Given the description of an element on the screen output the (x, y) to click on. 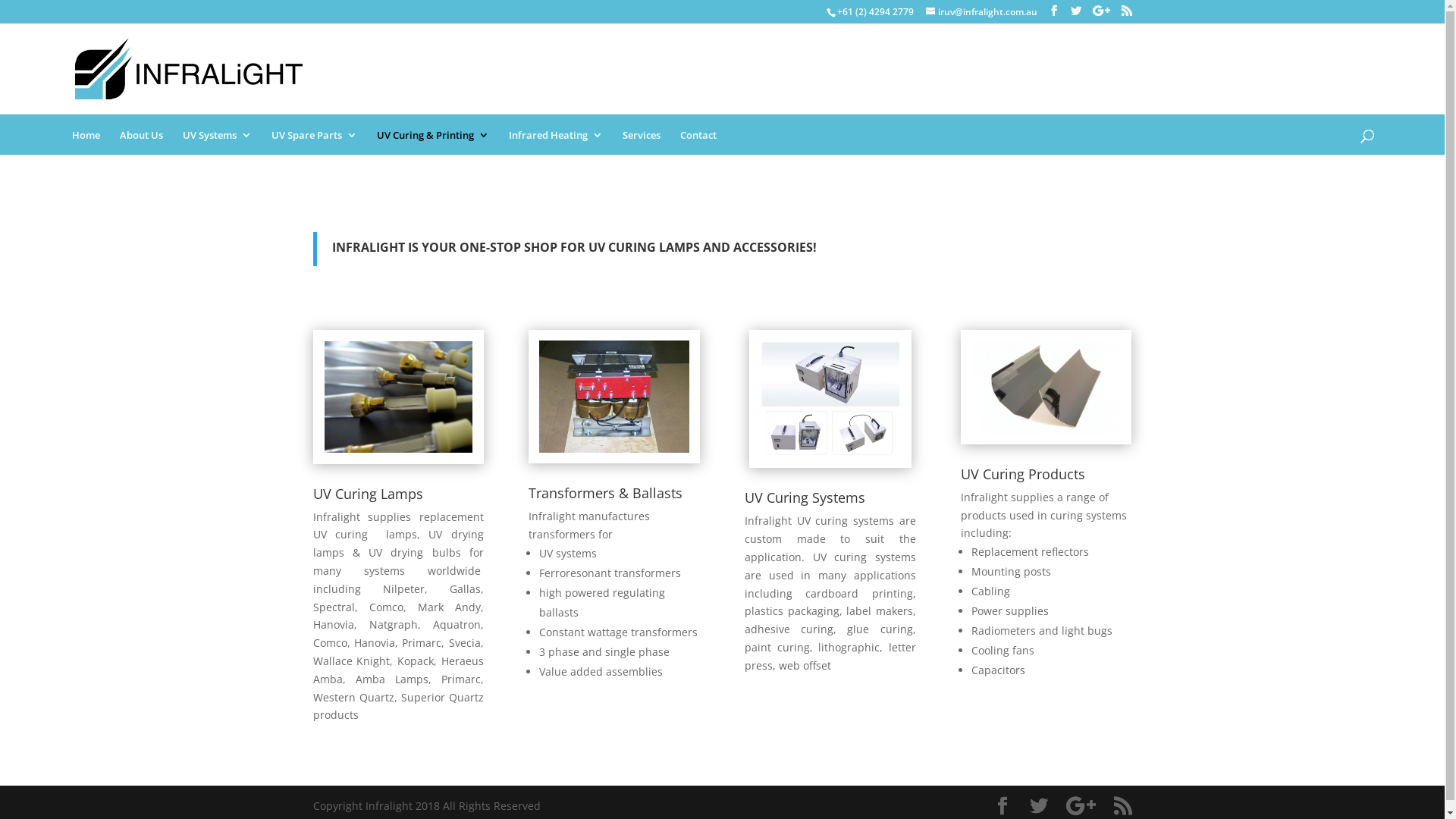
Infrared Heating Element type: text (555, 134)
Home Element type: text (86, 134)
iruv@infralight.com.au Element type: text (980, 11)
Contact Element type: text (698, 134)
UV Spare Parts Element type: text (314, 134)
UV Systems Element type: text (216, 134)
Services Element type: text (641, 134)
UV Curing & Printing Element type: text (432, 134)
About Us Element type: text (141, 134)
